Given the description of an element on the screen output the (x, y) to click on. 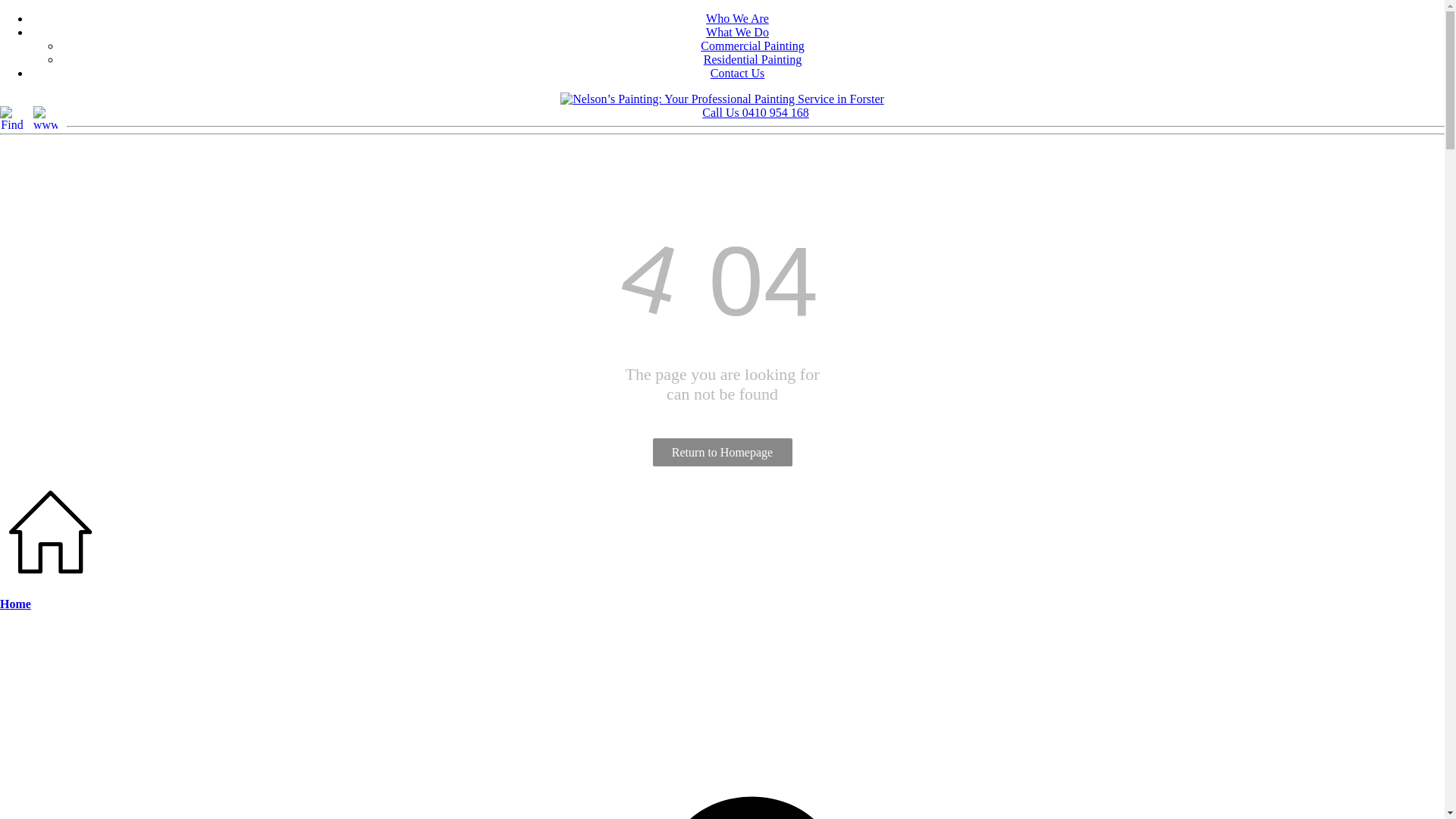
Find Us On GMB Element type: hover (12, 118)
What We Do Element type: text (737, 31)
Call Us 0410 954 168 Element type: text (755, 112)
Commercial Painting Element type: text (751, 45)
www.localsearch.com.au Element type: hover (45, 118)
Contact Us Element type: text (737, 72)
Return to Homepage Element type: text (721, 452)
Who We Are Element type: text (737, 18)
Residential Painting Element type: text (752, 59)
Home Element type: text (15, 603)
